Given the description of an element on the screen output the (x, y) to click on. 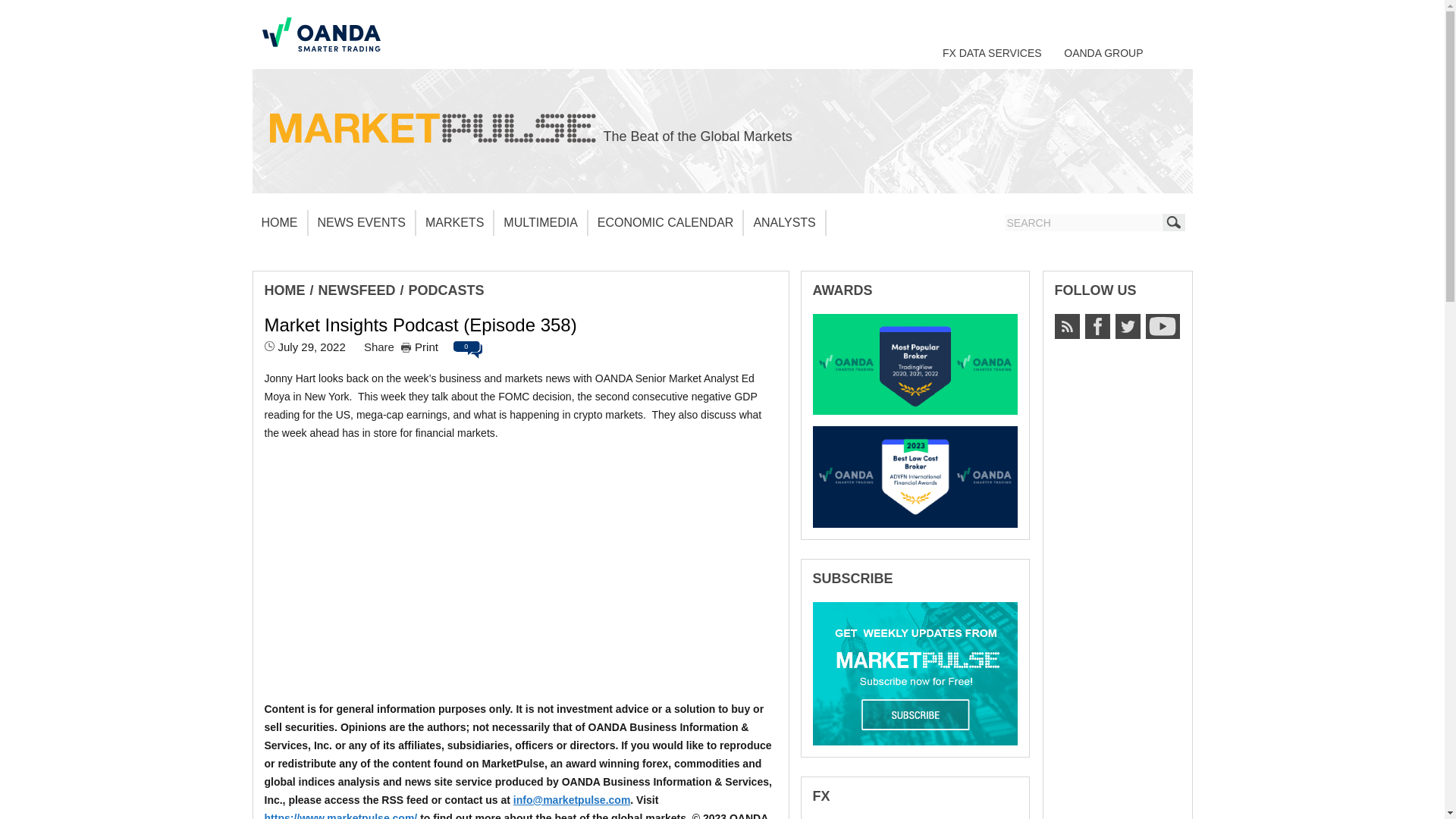
MARKETS (454, 222)
Audioboom player (519, 570)
MULTIMEDIA (540, 222)
Youtube (1161, 326)
Twitter (1127, 326)
HOME (279, 222)
FX DATA SERVICES (992, 52)
ANALYSTS (784, 222)
ECONOMIC CALENDAR (666, 222)
OANDA GROUP (1103, 52)
Facebook (1096, 326)
Find (1173, 221)
Print (419, 346)
HOME (283, 290)
PODCASTS (446, 290)
